Given the description of an element on the screen output the (x, y) to click on. 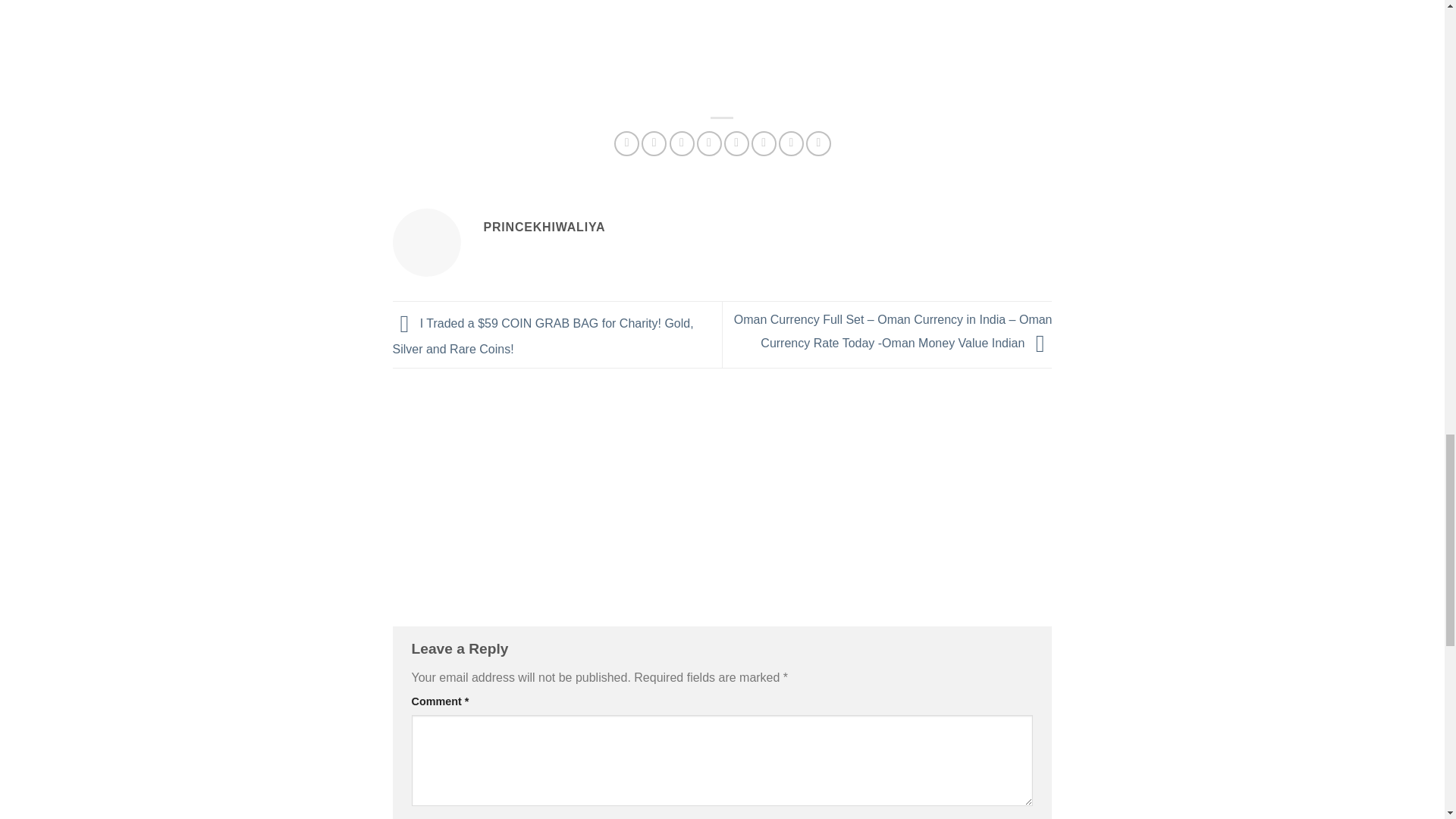
Share on Facebook (626, 143)
Share on VKontakte (736, 143)
Email to a Friend (681, 143)
Pin on Pinterest (709, 143)
Share on Twitter (654, 143)
